Given the description of an element on the screen output the (x, y) to click on. 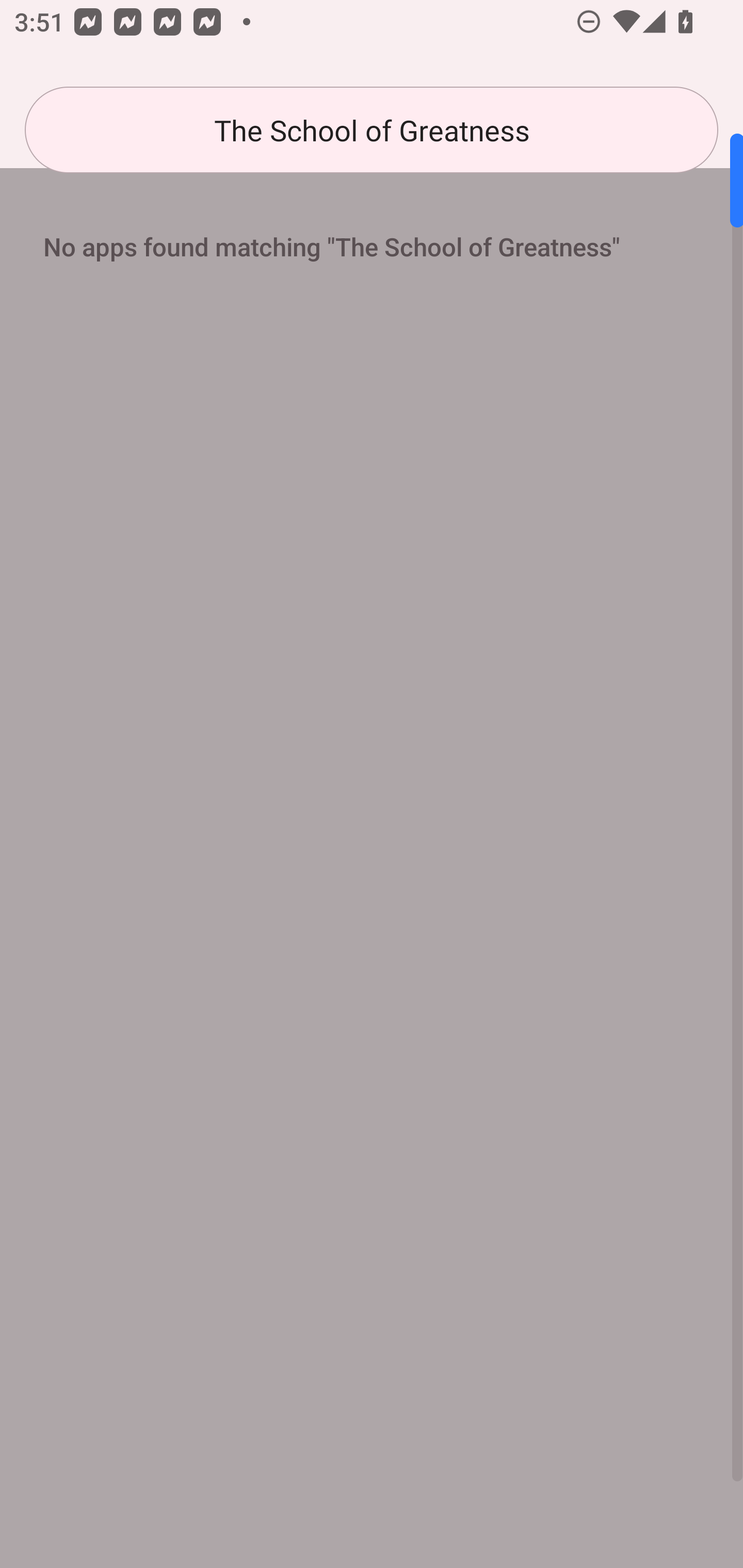
The School of Greatness (371, 130)
